Given the description of an element on the screen output the (x, y) to click on. 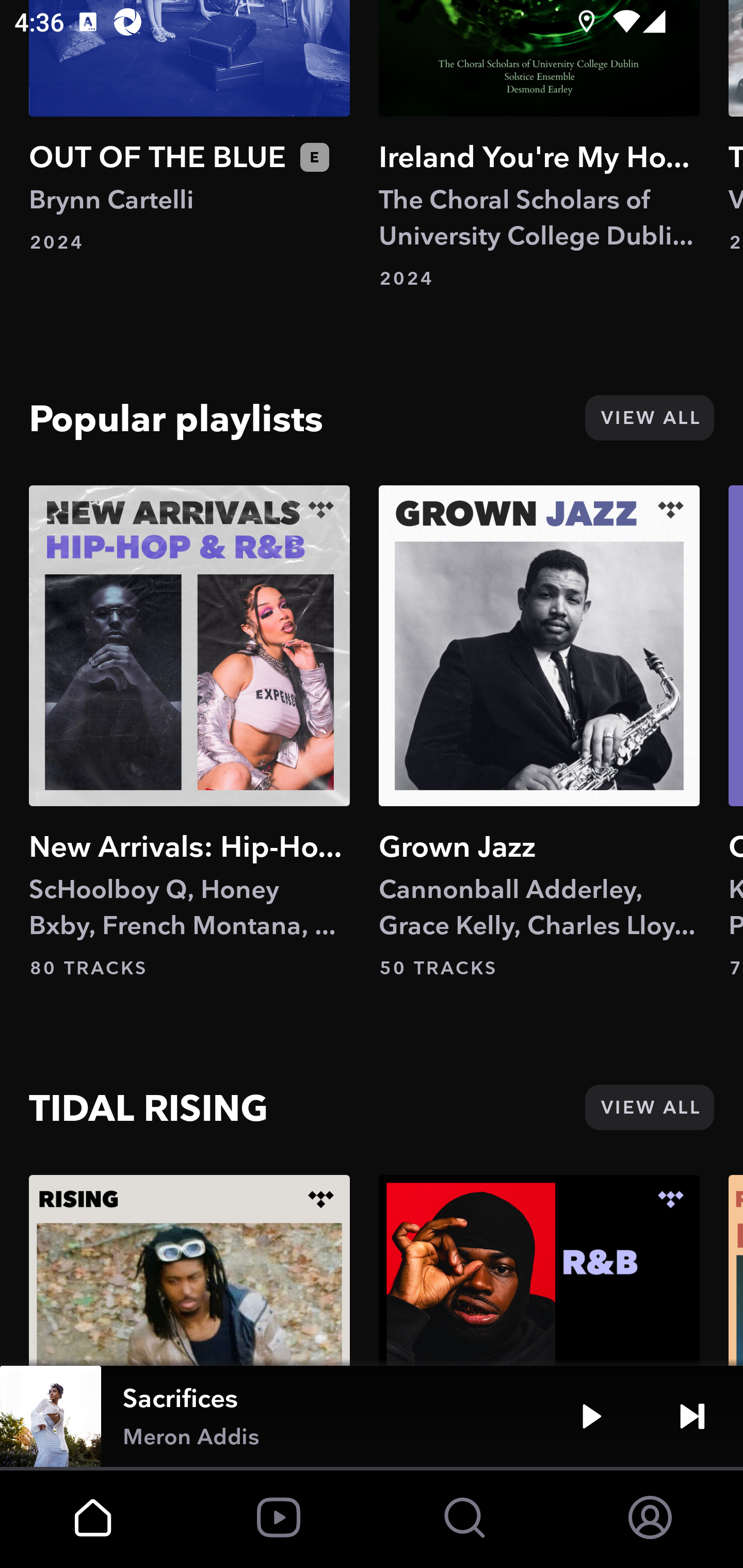
OUT OF THE BLUE Brynn Cartelli 2024 (188, 127)
VIEW ALL (649, 417)
VIEW ALL (649, 1107)
Sacrifices Meron Addis Play (371, 1416)
Play (590, 1416)
